Given the description of an element on the screen output the (x, y) to click on. 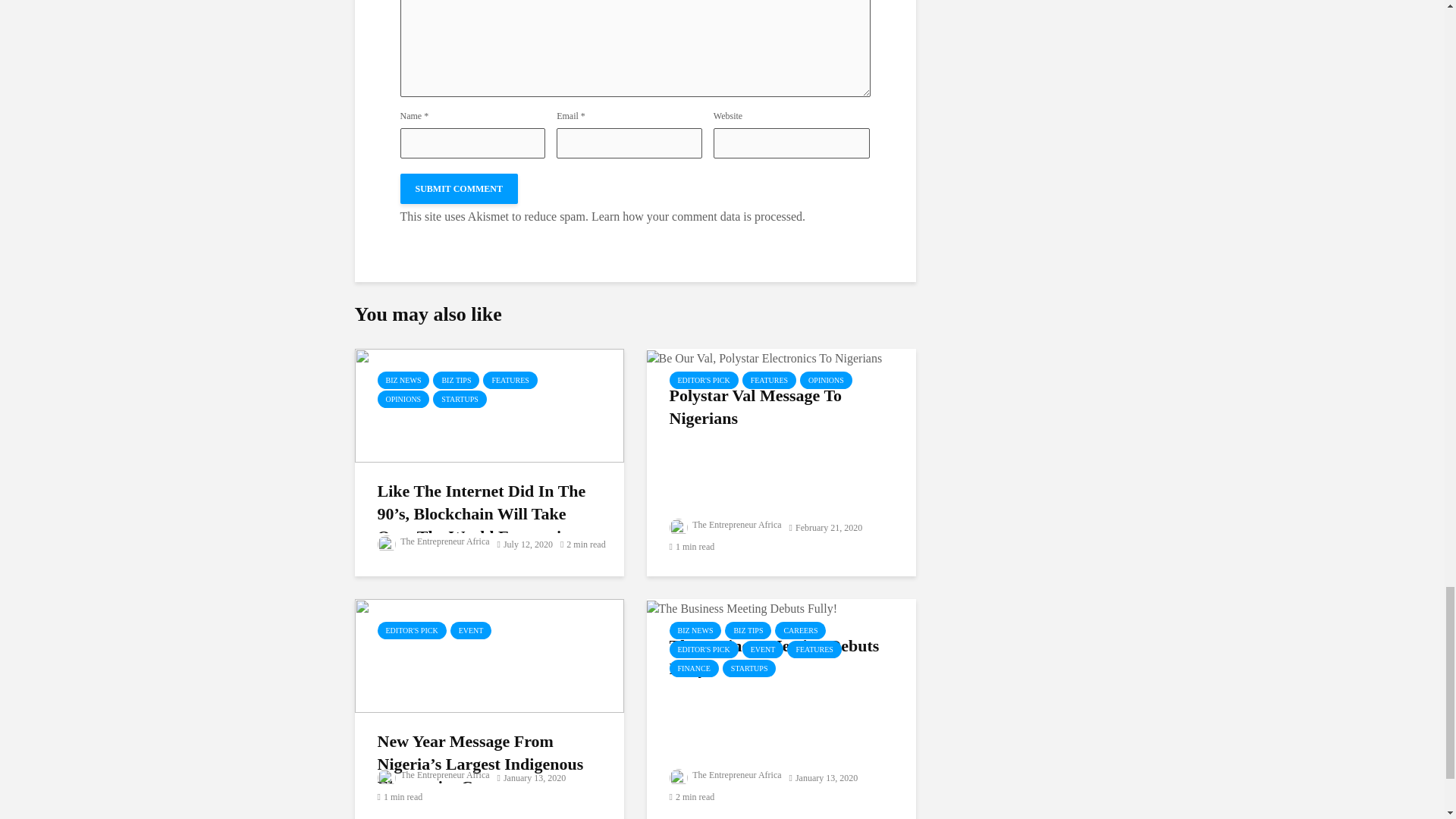
The Business Meeting Debuts Fully! (741, 606)
Submit Comment (459, 188)
Polystar Val Message To Nigerians (764, 356)
